Given the description of an element on the screen output the (x, y) to click on. 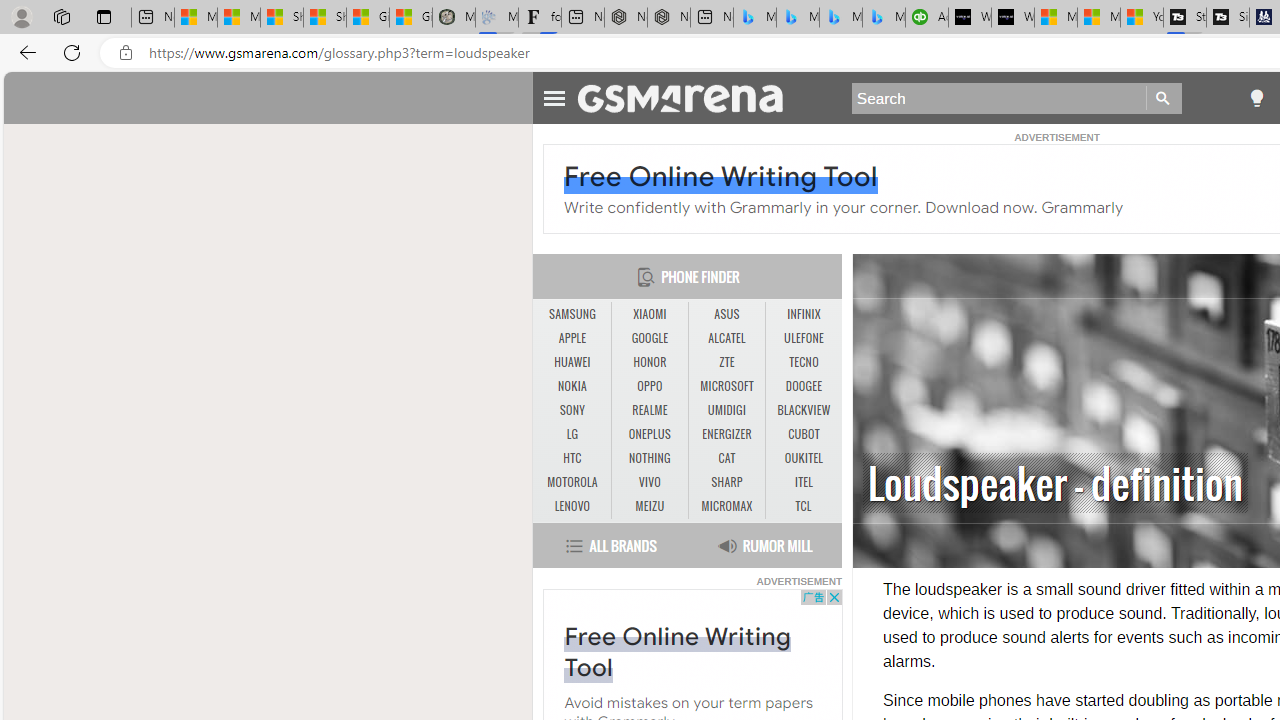
SAMSUNG (571, 313)
TCL (803, 506)
Free Online Writing Tool (677, 651)
VIVO (649, 483)
NOKIA (571, 385)
UMIDIGI (726, 411)
ONEPLUS (649, 434)
TECNO (803, 362)
GOOGLE (649, 338)
BLACKVIEW (803, 410)
NOKIA (571, 386)
